Given the description of an element on the screen output the (x, y) to click on. 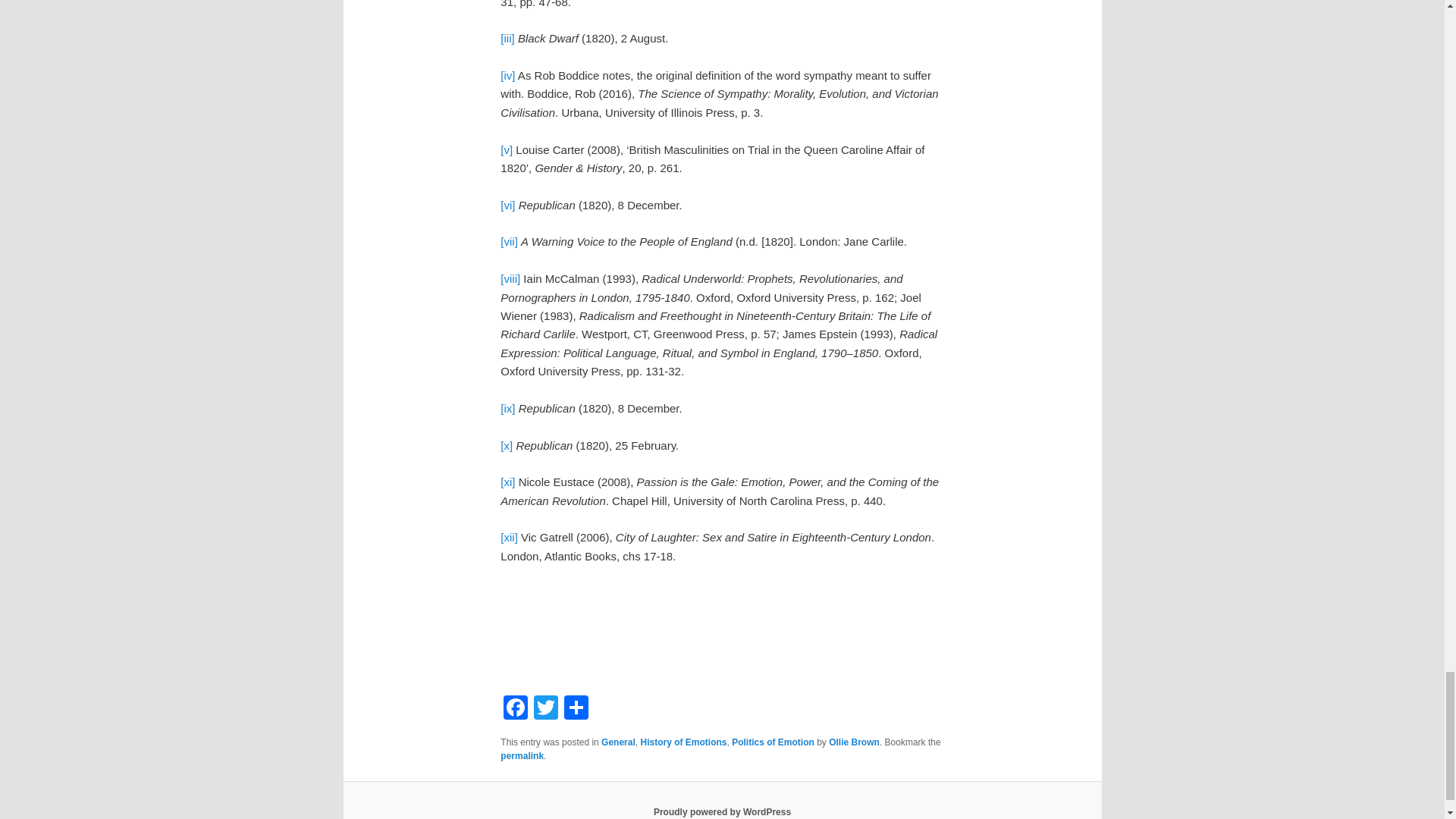
Permalink to An Impassioned Royal Scandal (521, 756)
Semantic Personal Publishing Platform (721, 811)
Facebook (515, 709)
Facebook (515, 709)
Twitter (545, 709)
